Given the description of an element on the screen output the (x, y) to click on. 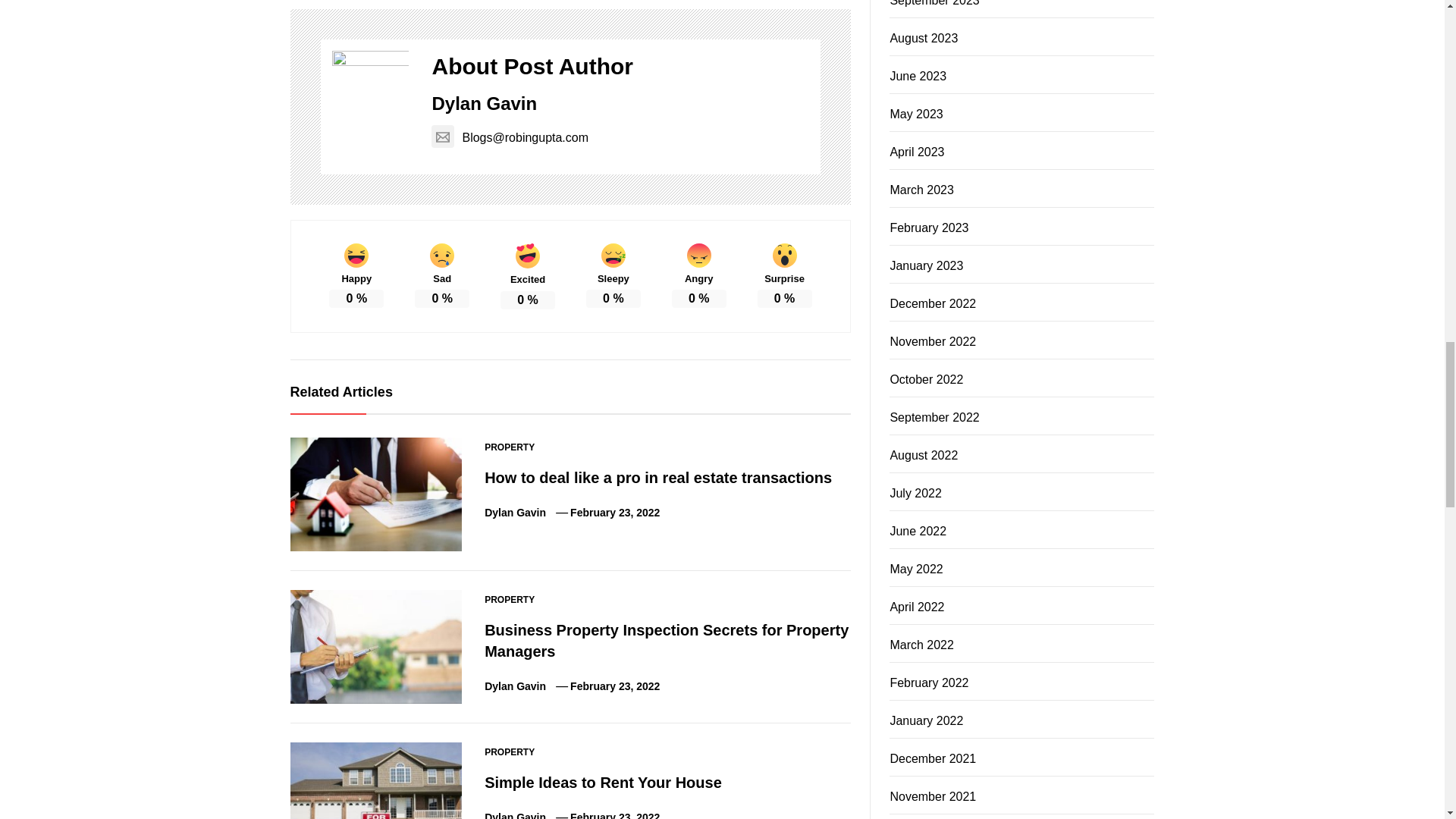
PROPERTY (509, 447)
Dylan Gavin (483, 103)
